Given the description of an element on the screen output the (x, y) to click on. 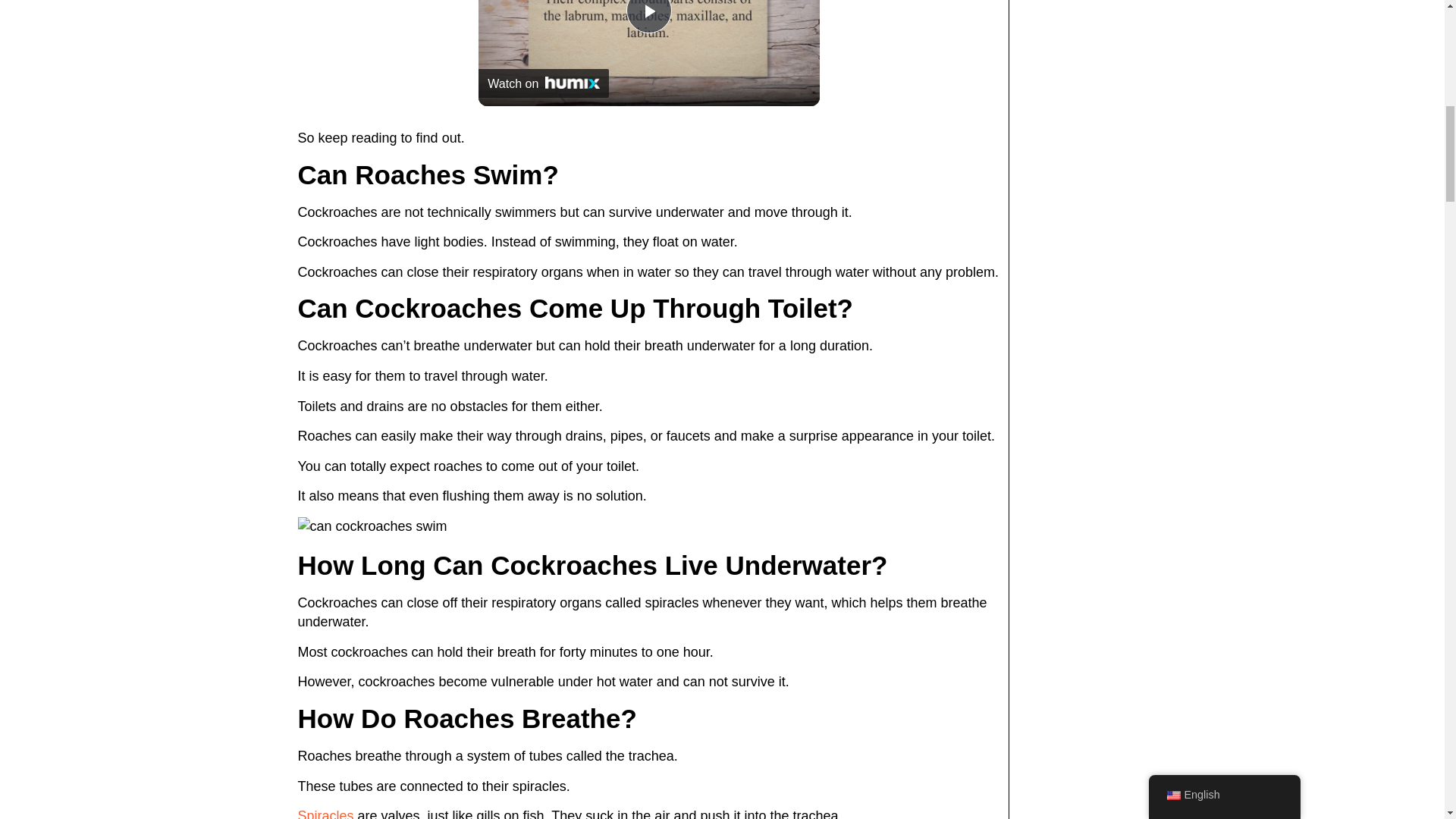
Play Video (648, 16)
